Given the description of an element on the screen output the (x, y) to click on. 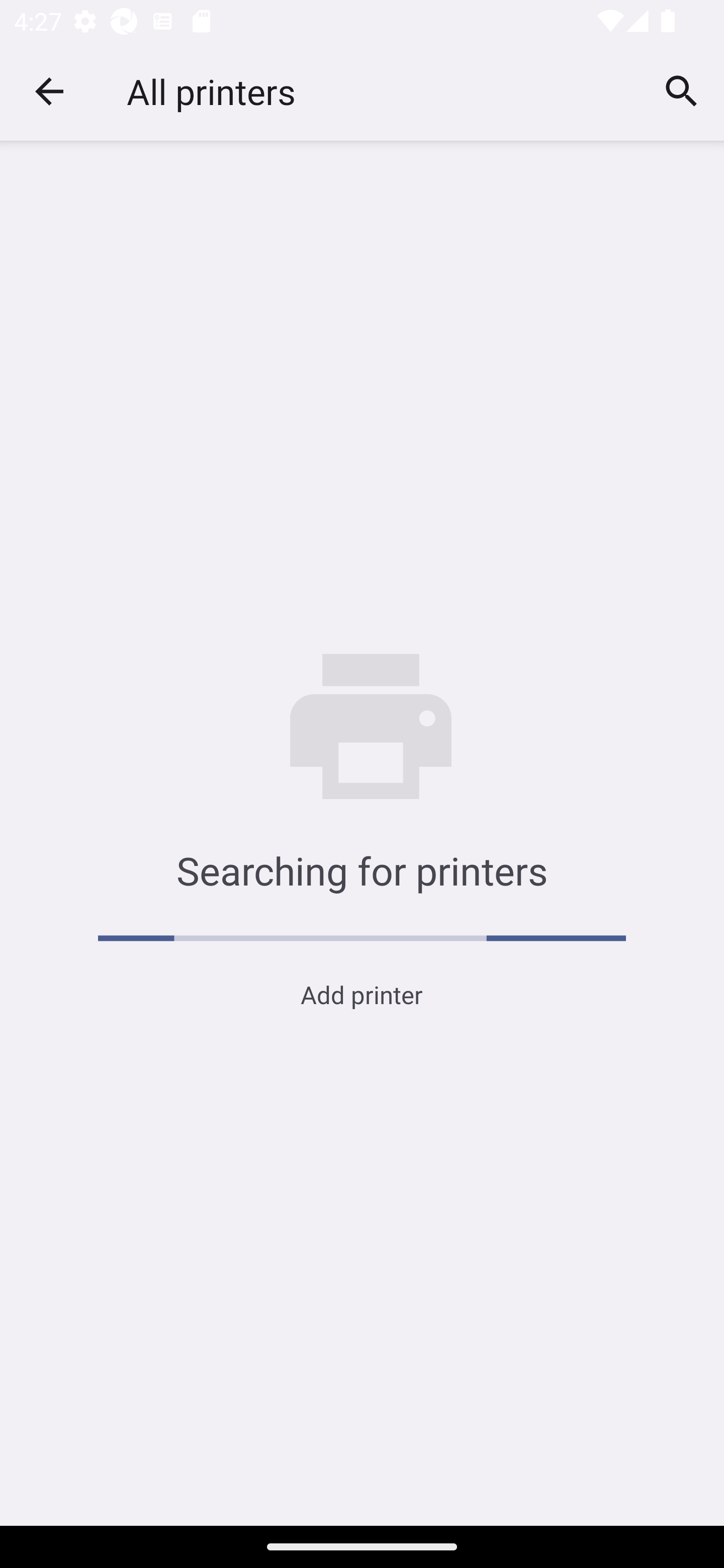
Navigate up (49, 91)
Search (681, 90)
Add printer (361, 993)
